Given the description of an element on the screen output the (x, y) to click on. 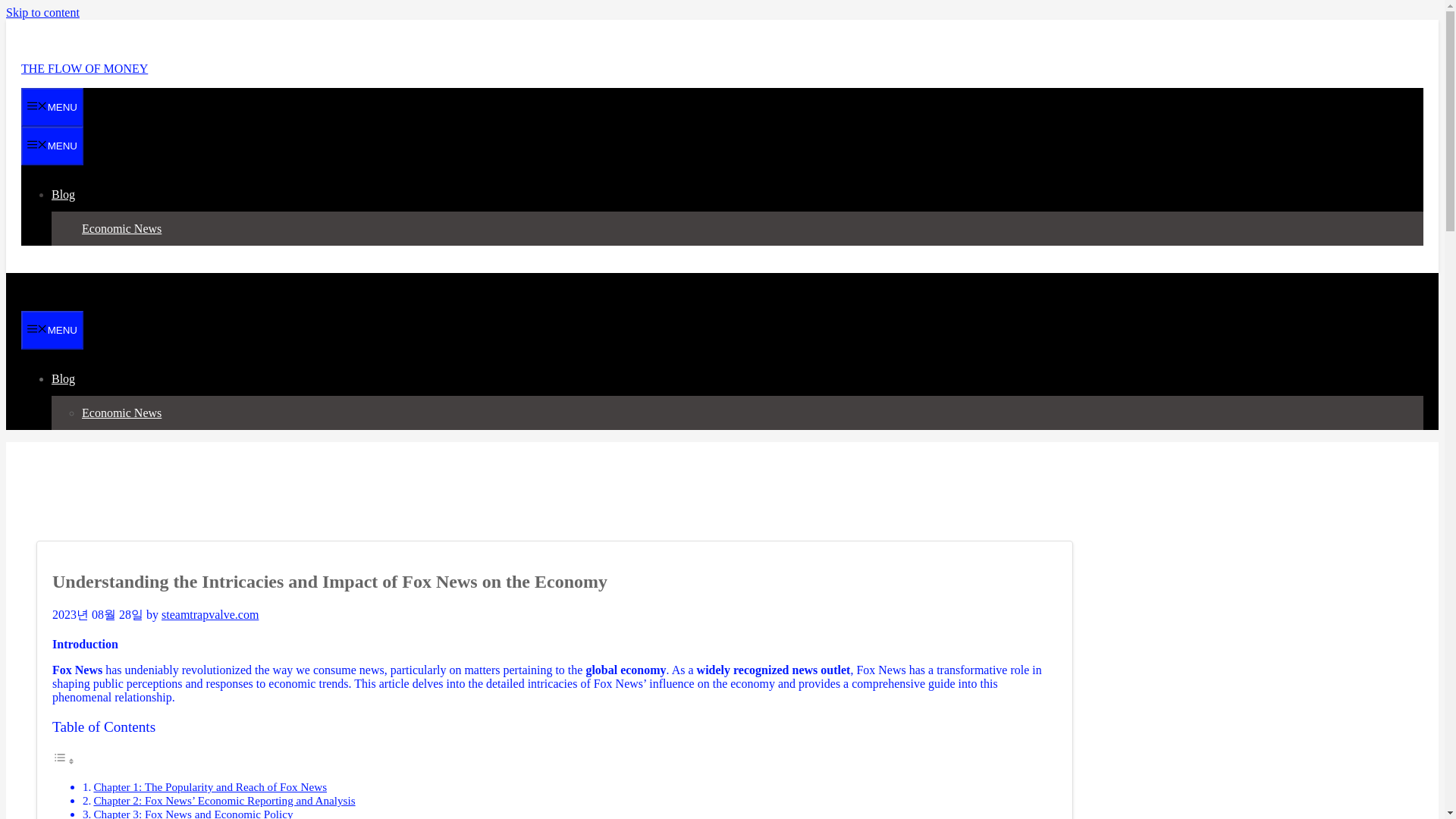
Chapter 1: The Popularity and Reach of Fox News (209, 786)
The flow of money (80, 303)
View all posts by steamtrapvalve.com (210, 614)
Skip to content (42, 11)
Skip to content (42, 11)
MENU (51, 145)
MENU (51, 106)
THE FLOW OF MONEY (84, 68)
Blog (68, 378)
Chapter 1: The Popularity and Reach of Fox News (209, 786)
Chapter 3: Fox News and Economic Policy (192, 813)
Chapter 3: Fox News and Economic Policy (192, 813)
Blog (68, 194)
MENU (51, 330)
Economic News (121, 228)
